Given the description of an element on the screen output the (x, y) to click on. 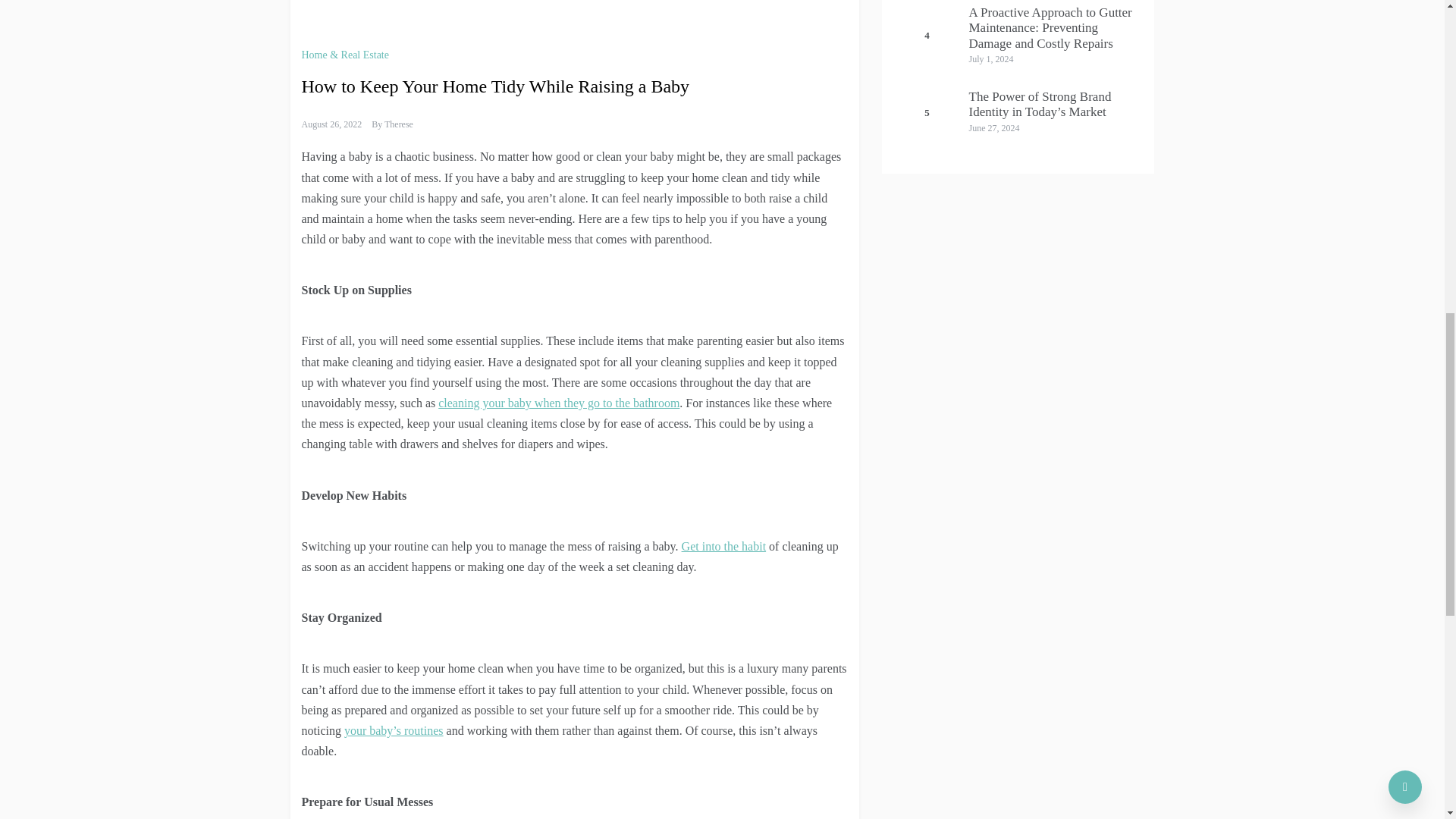
Get into the habit (724, 545)
August 26, 2022 (331, 123)
cleaning your baby when they go to the bathroom (558, 402)
Therese (398, 123)
